Given the description of an element on the screen output the (x, y) to click on. 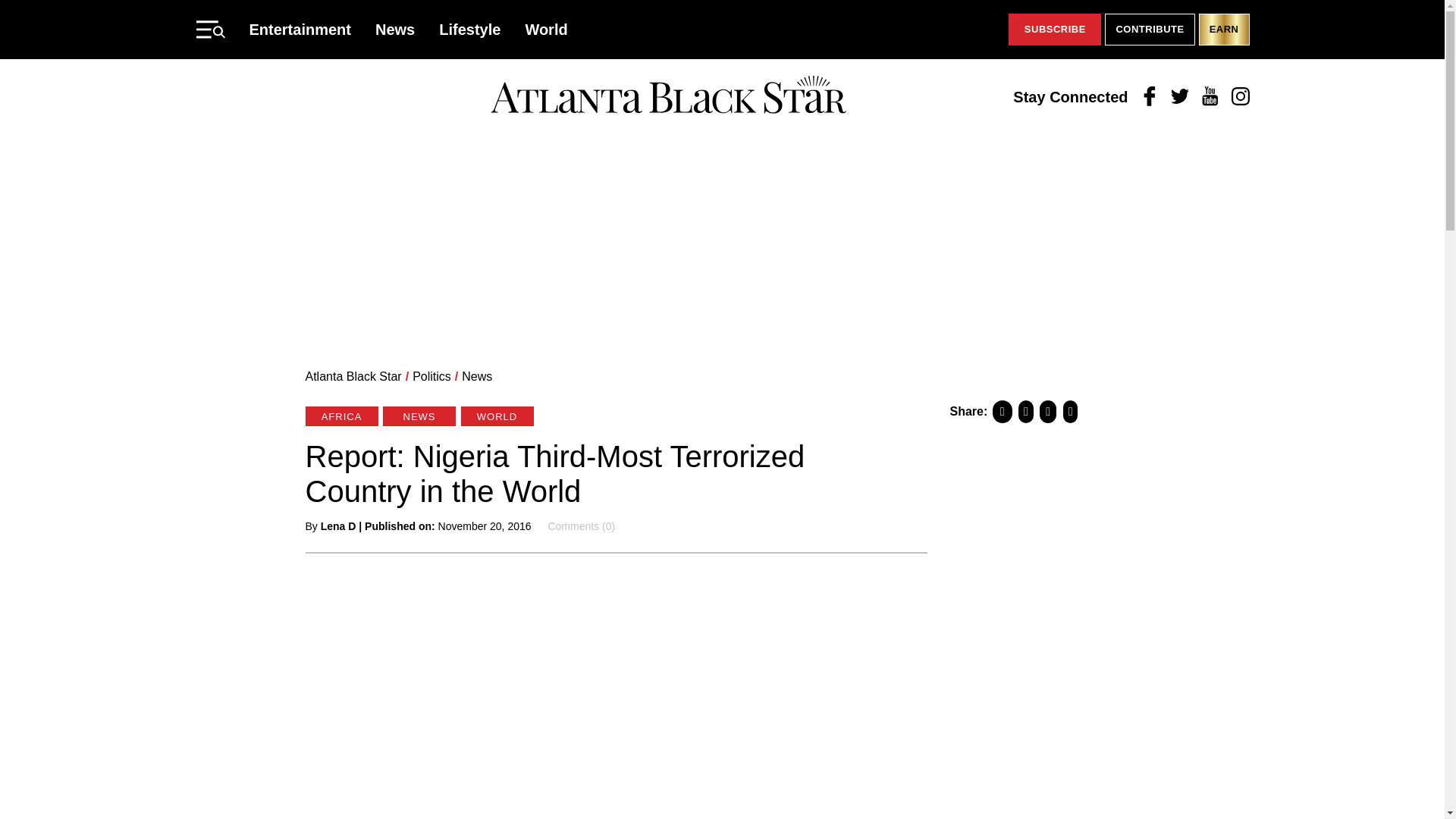
Atlanta Black Star (352, 376)
Go to Atlanta Black Star. (352, 376)
Go to the Politics Category archives. (431, 376)
Youtube (1210, 96)
News (394, 29)
EARN (1223, 29)
Instagram (1240, 96)
Facebook (1149, 96)
SUBSCRIBE (1054, 29)
Lifestyle (469, 29)
Primary Menu (209, 29)
Politics (431, 376)
Twitter (1179, 96)
Entertainment (299, 29)
World (545, 29)
